Given the description of an element on the screen output the (x, y) to click on. 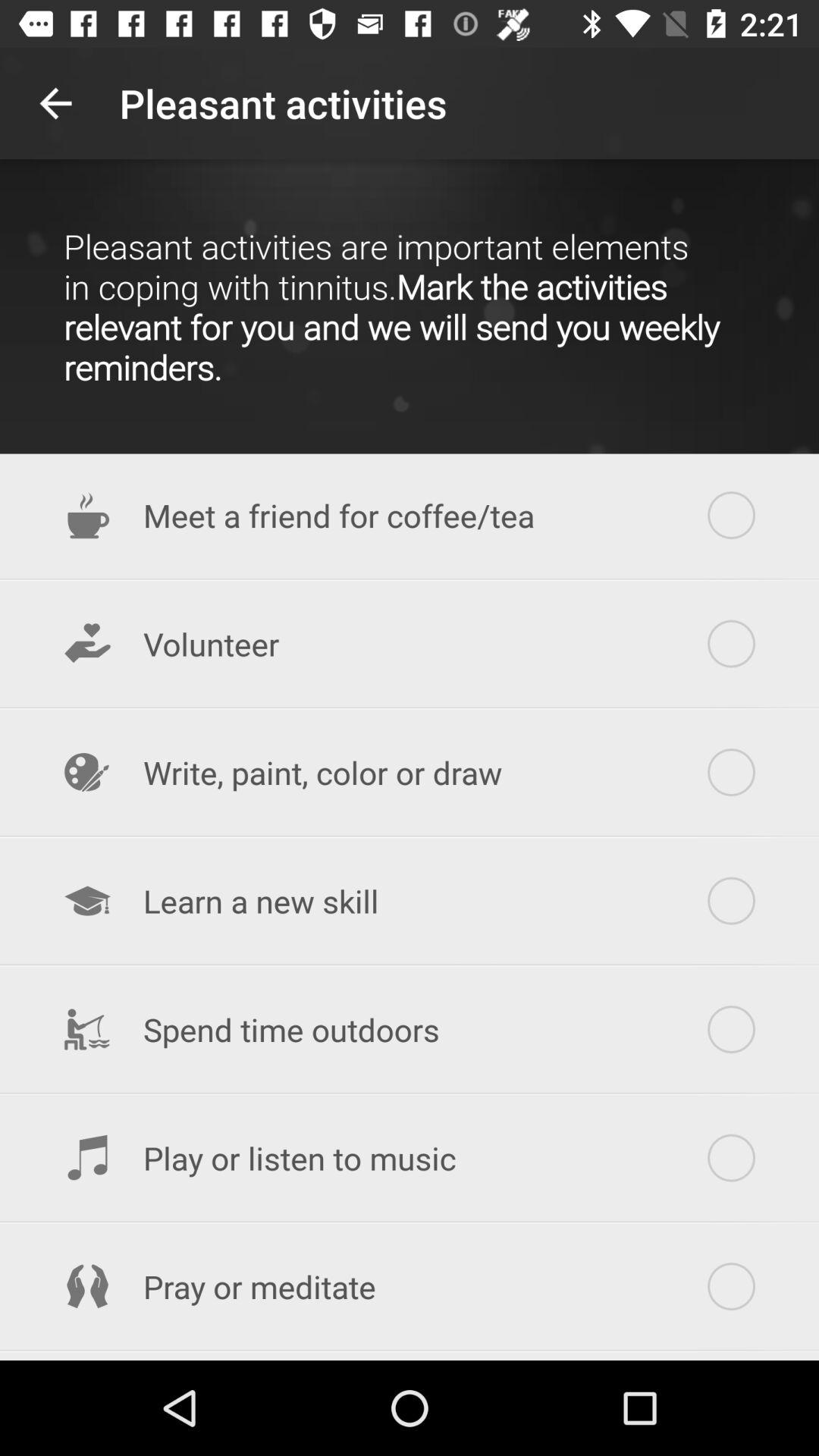
tap the icon below meet a friend (409, 643)
